Given the description of an element on the screen output the (x, y) to click on. 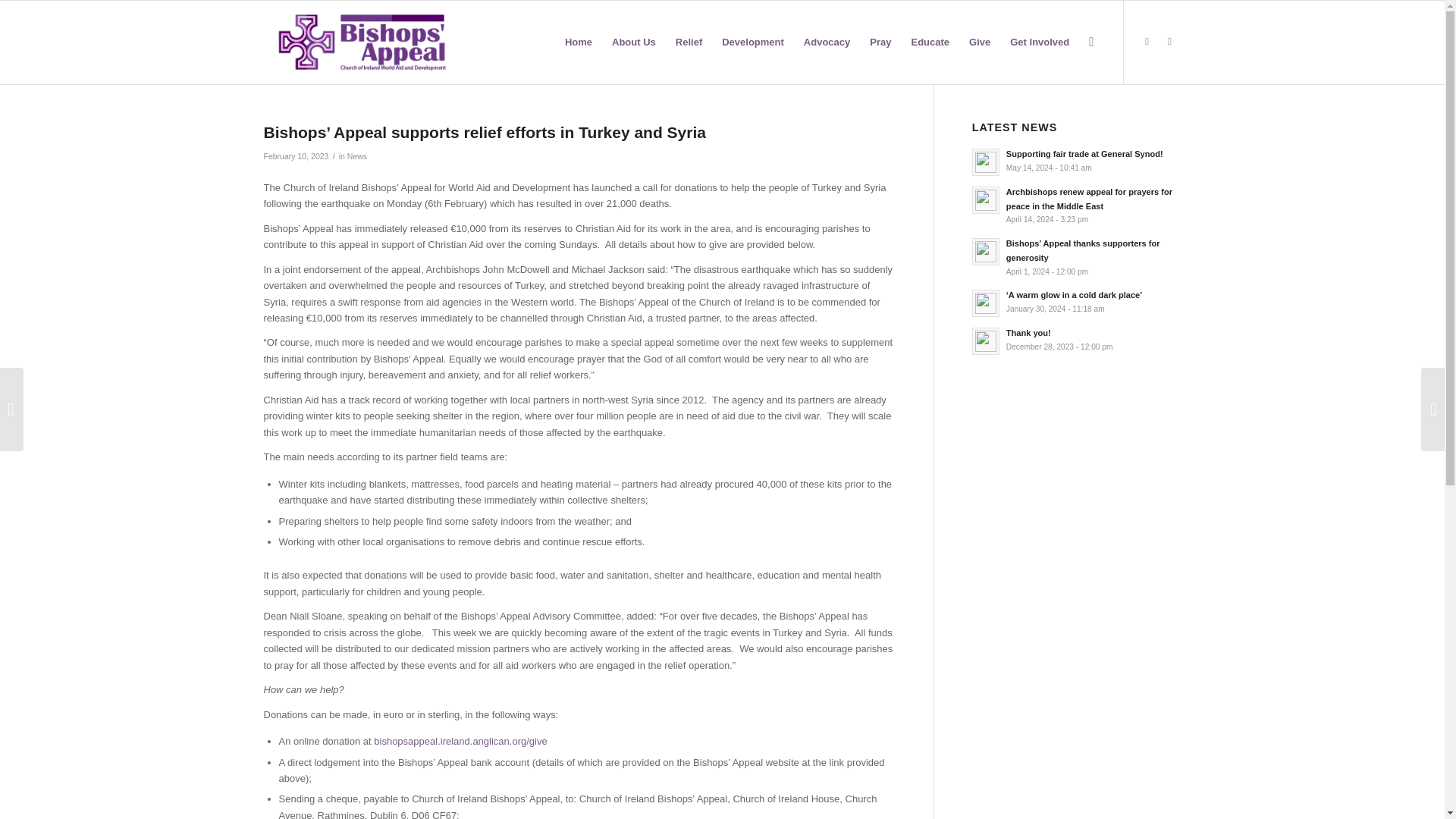
Read: Supporting fair trade at General Synod! (985, 162)
Read: Supporting fair trade at General Synod! (1084, 153)
News (356, 155)
Facebook (1146, 41)
Read: Thank you! (1028, 332)
Twitter (1169, 41)
Read: Thank you! (985, 340)
